Given the description of an element on the screen output the (x, y) to click on. 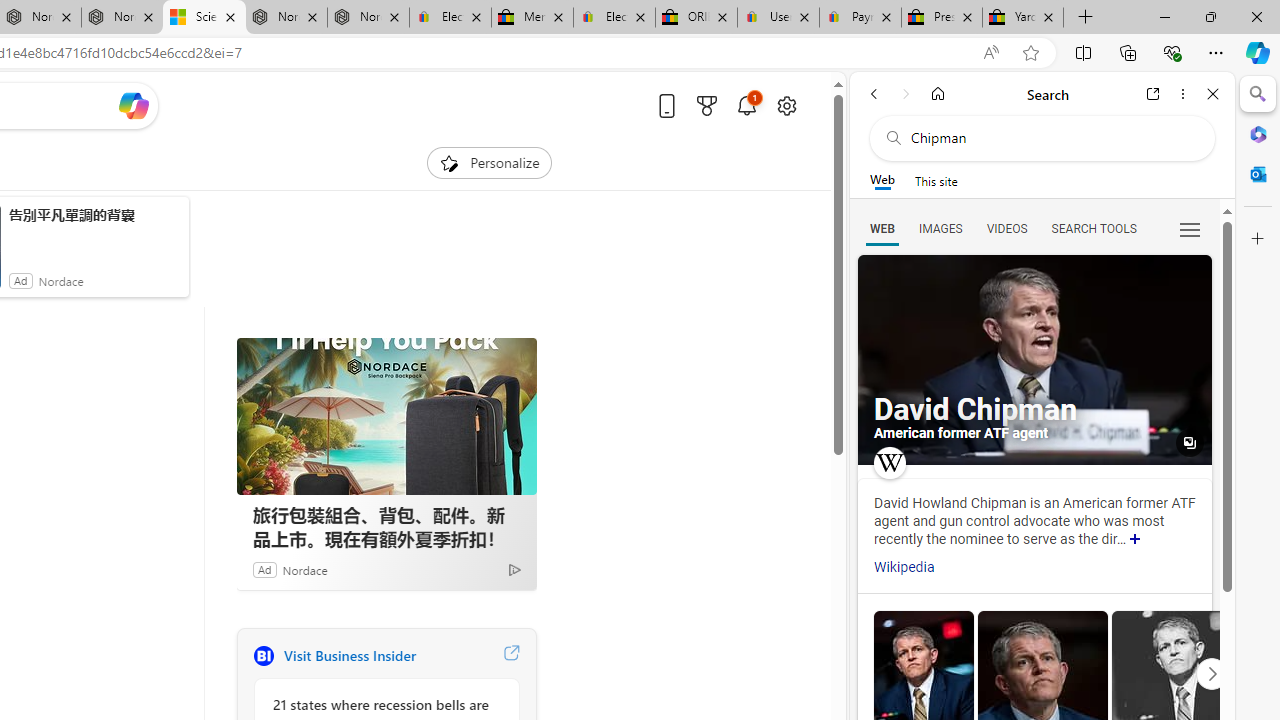
Personalize (488, 162)
Business Insider (263, 655)
This site scope (936, 180)
Forward (906, 93)
Ad Choice (514, 569)
Search Filter, Search Tools (1093, 228)
VIDEOS (1006, 228)
SEARCH TOOLS (1093, 228)
